Given the description of an element on the screen output the (x, y) to click on. 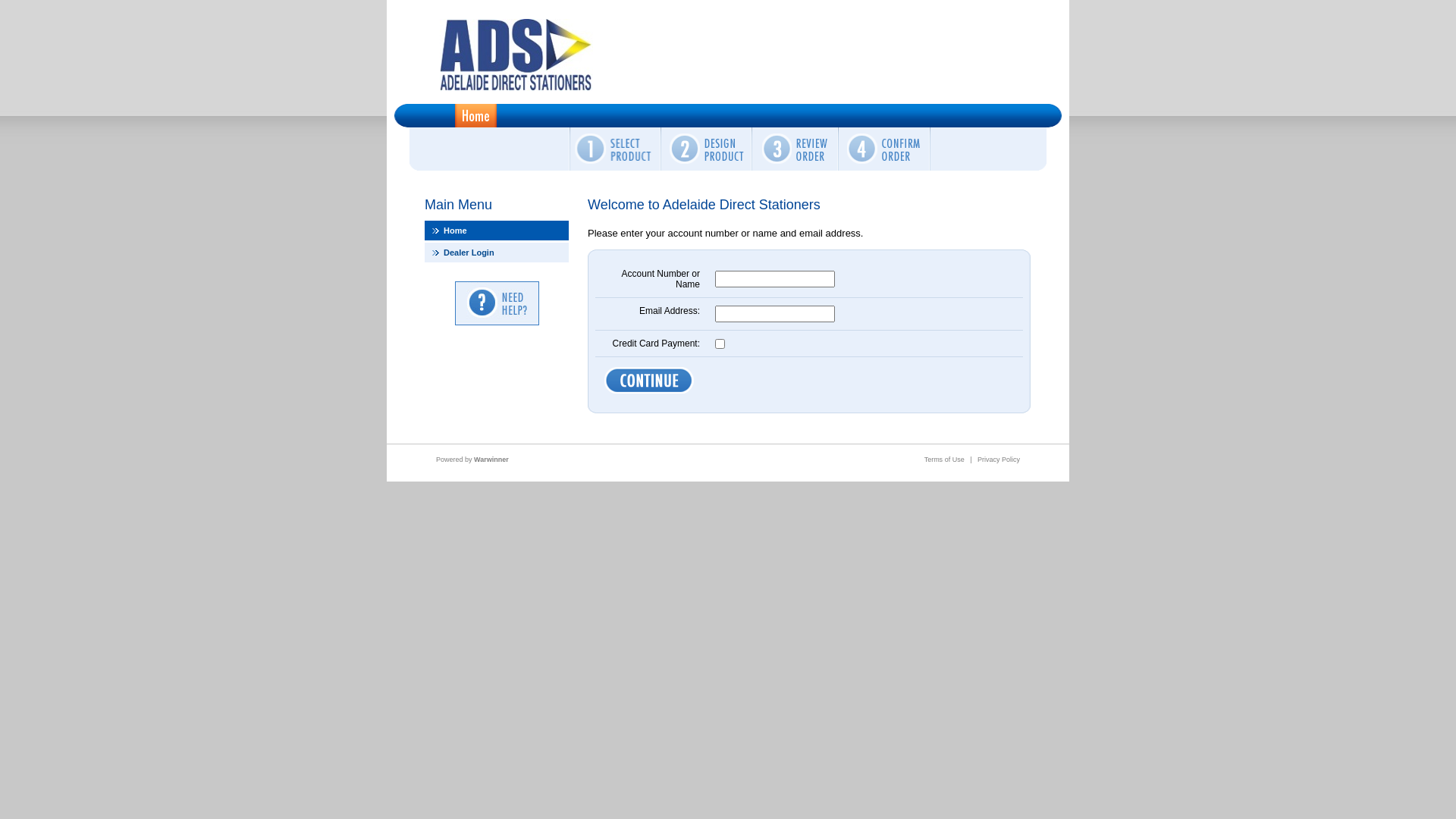
Home Element type: text (496, 230)
Privacy Policy Element type: text (998, 459)
View Help Element type: hover (497, 303)
Terms of Use Element type: text (944, 459)
Dealer Login Element type: text (496, 252)
